Given the description of an element on the screen output the (x, y) to click on. 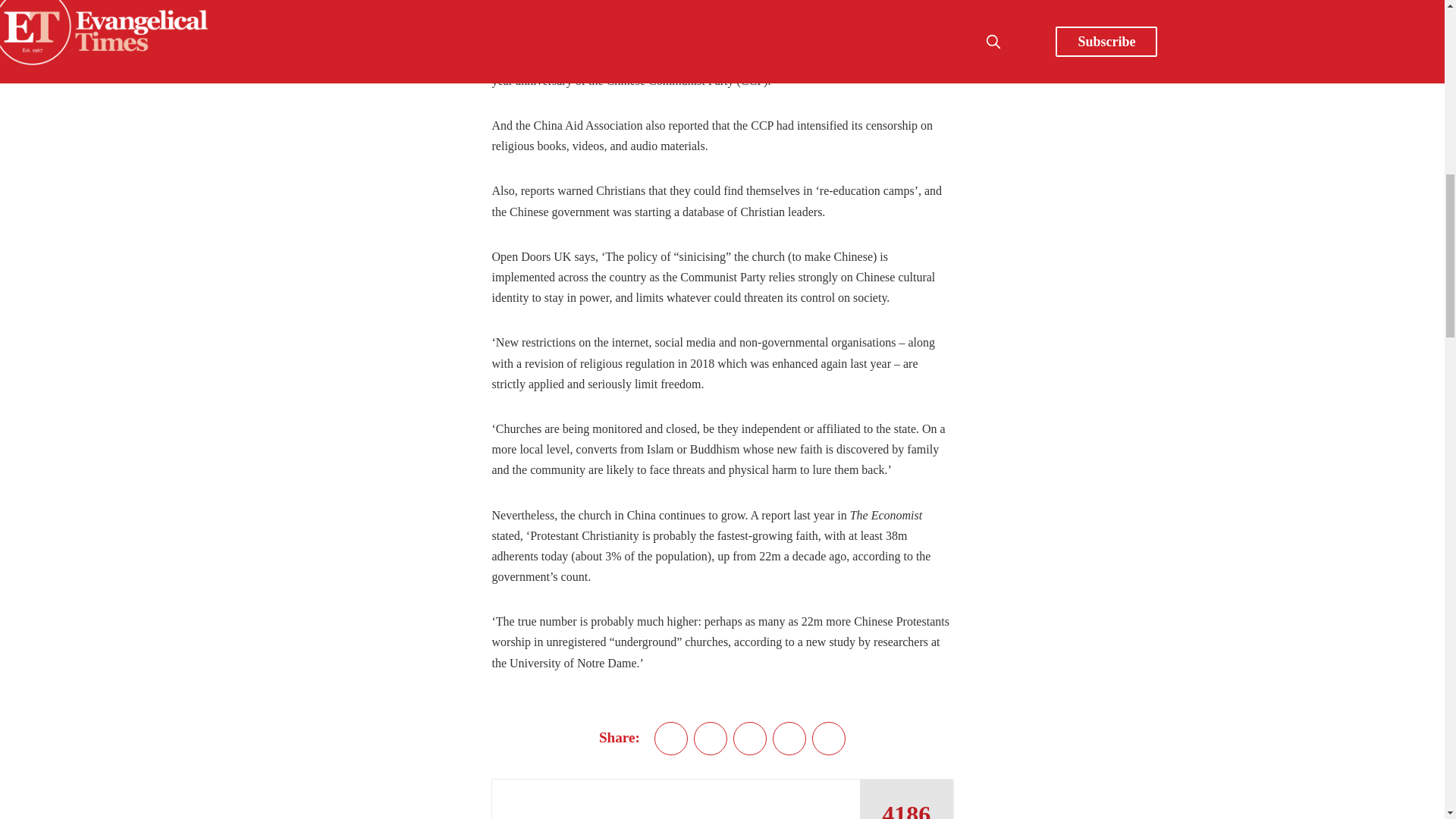
Share on Twitter (670, 738)
Share on Linkedin (750, 738)
Copy to clipboard (828, 738)
Share on Facebook (710, 738)
Share by email (789, 738)
